Given the description of an element on the screen output the (x, y) to click on. 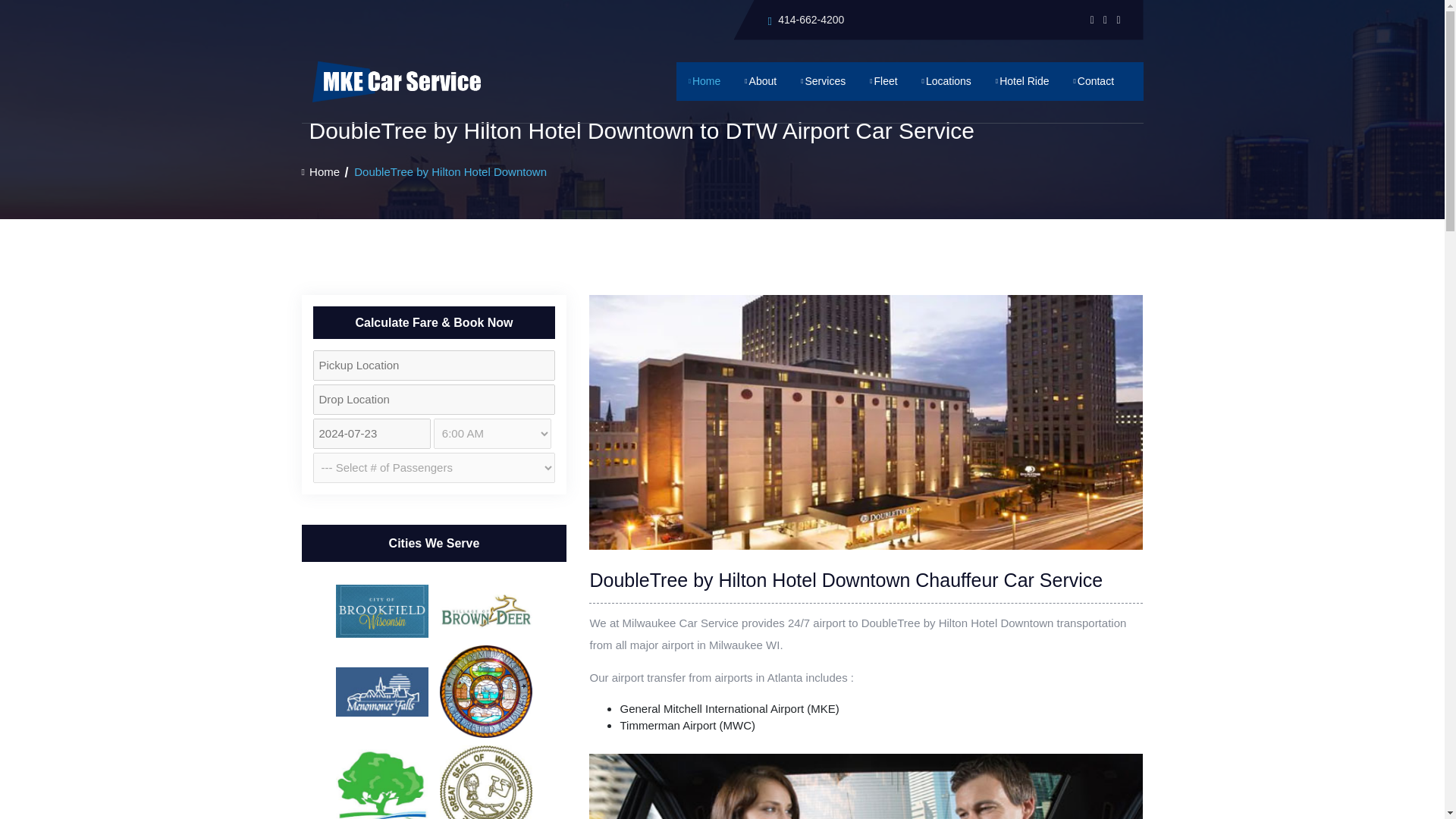
Contact (1108, 81)
Home (704, 81)
Hotel Ride (1022, 81)
Home (320, 171)
About (760, 81)
Services (822, 81)
Fleet (882, 81)
Locations (946, 81)
414-662-4200 (810, 19)
